Given the description of an element on the screen output the (x, y) to click on. 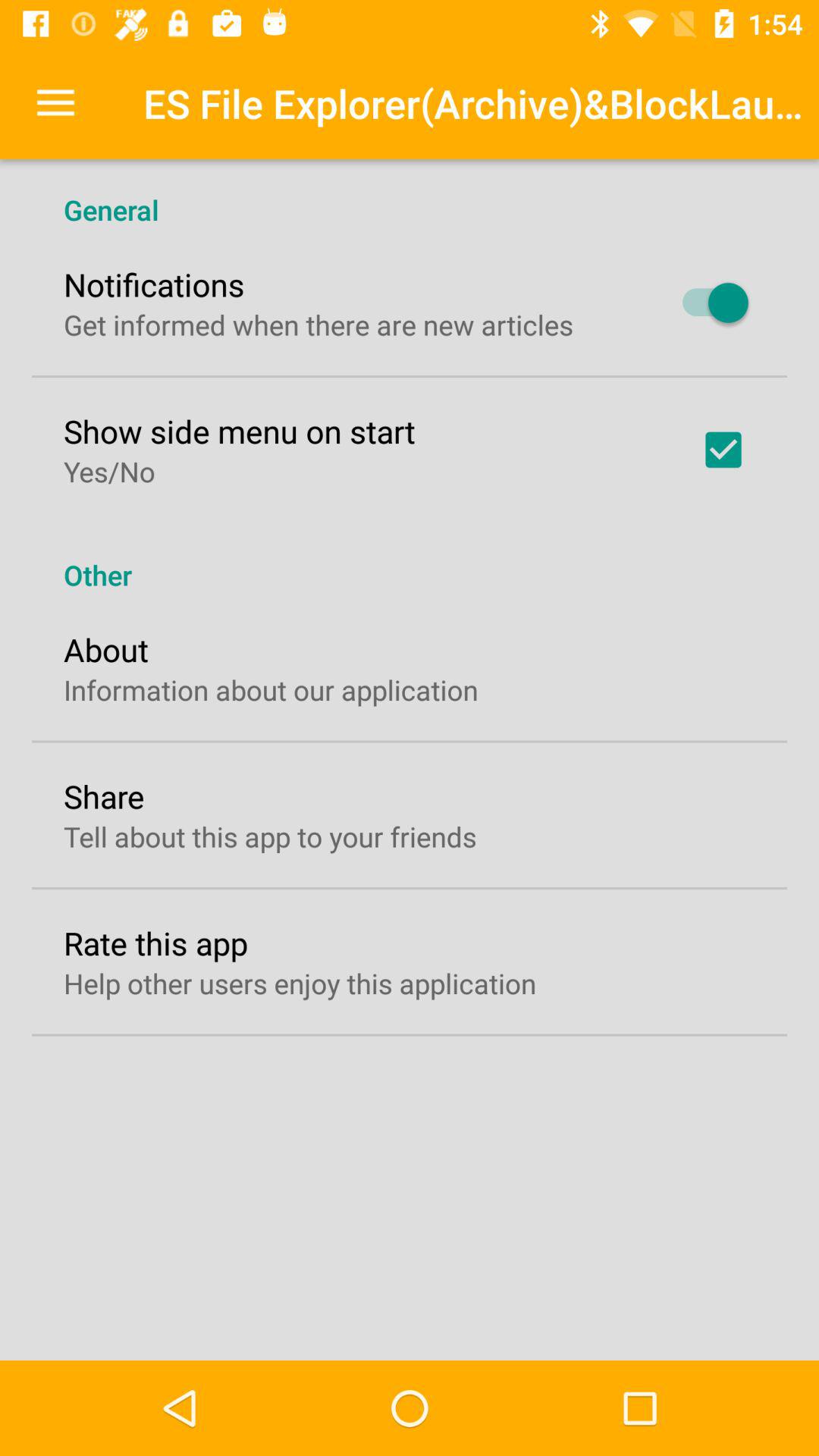
open the yes/no item (109, 471)
